Given the description of an element on the screen output the (x, y) to click on. 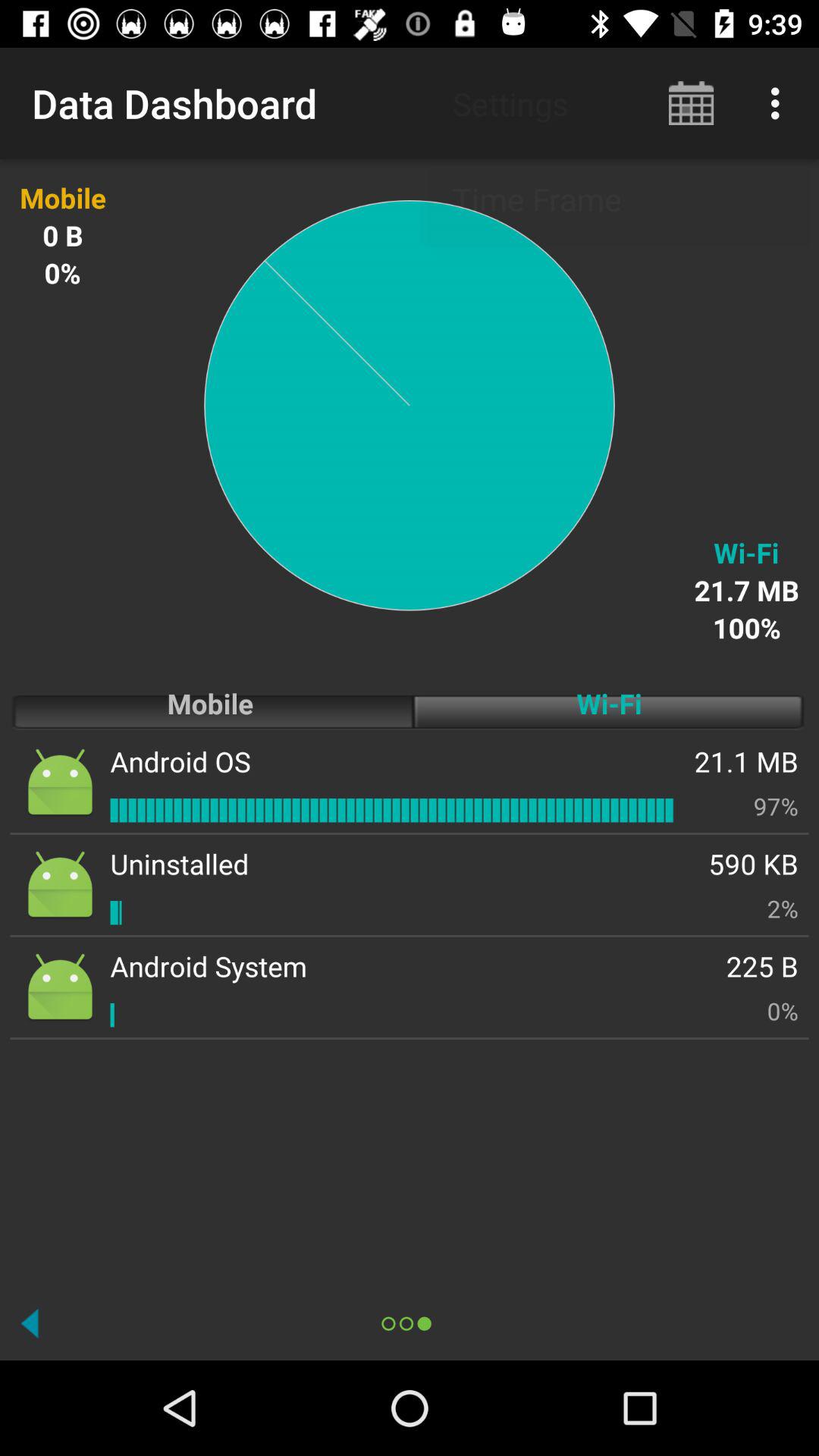
go back (29, 1323)
